Given the description of an element on the screen output the (x, y) to click on. 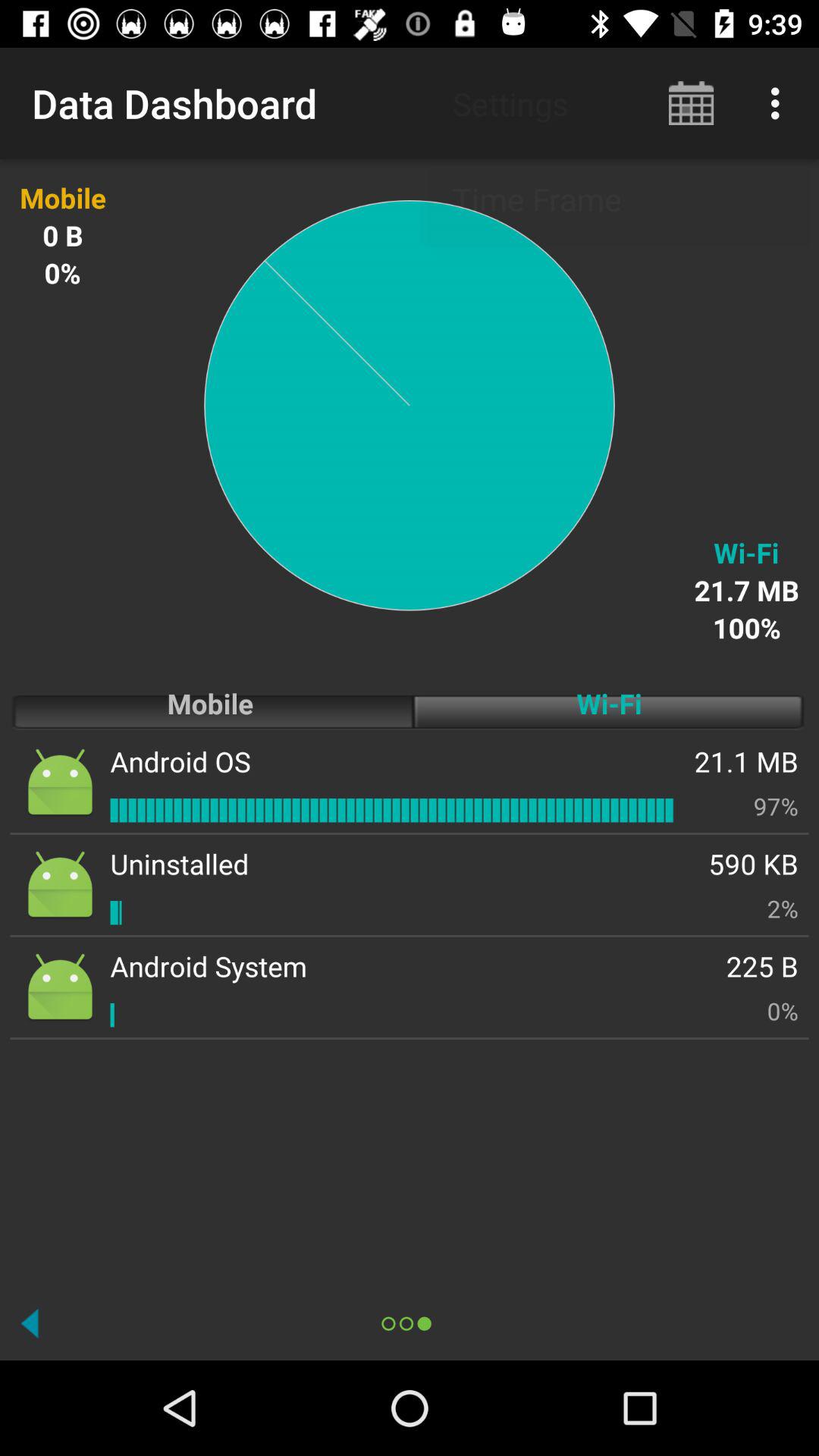
go back (29, 1323)
